Given the description of an element on the screen output the (x, y) to click on. 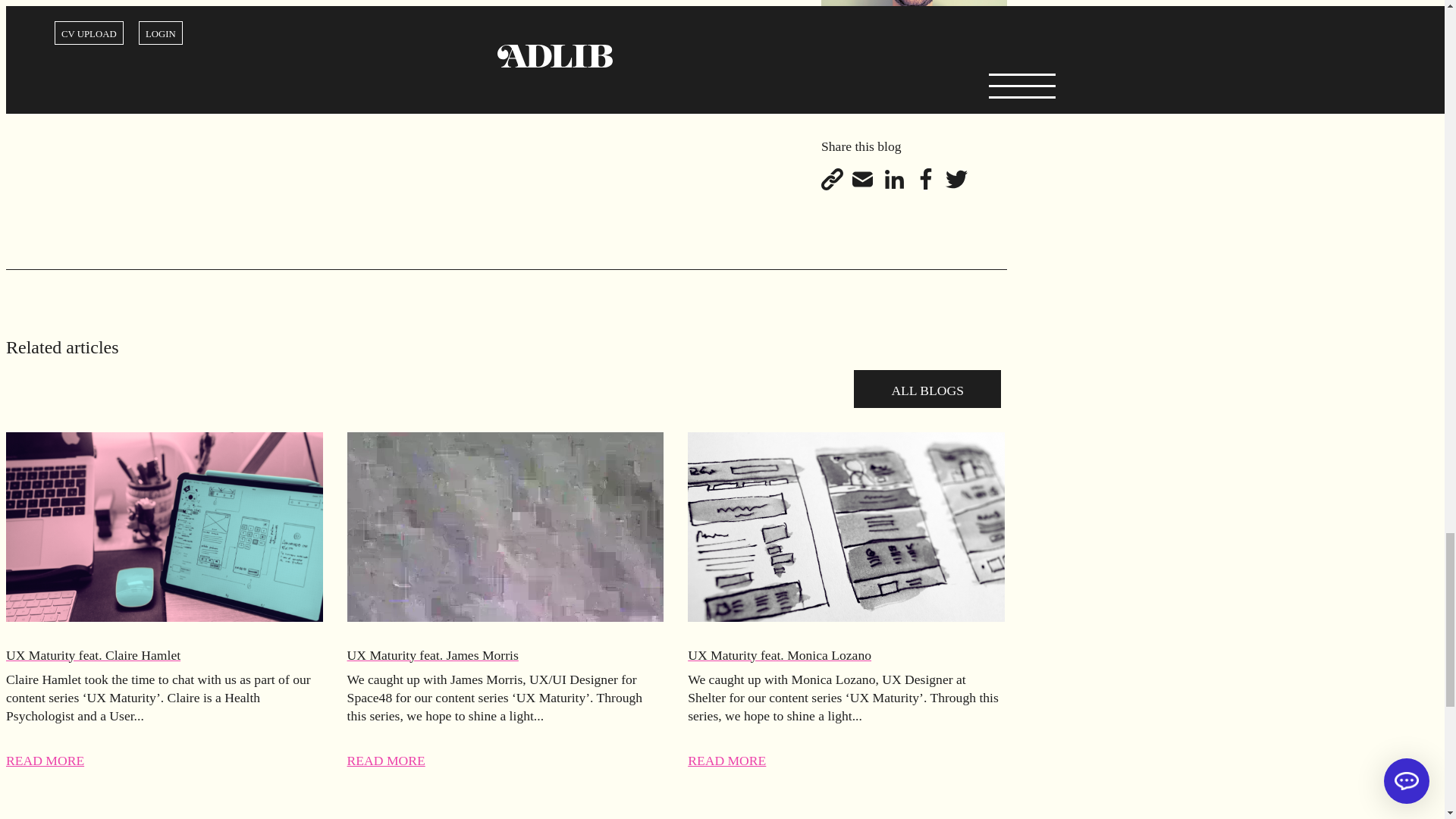
READ MORE (44, 759)
READ MORE (386, 759)
UX Maturity feat. Claire Hamlet (164, 655)
UX Maturity feat. James Morris (505, 655)
READ MORE (726, 759)
ALL BLOGS (927, 388)
UX Maturity feat. Monica Lozano (845, 655)
